Given the description of an element on the screen output the (x, y) to click on. 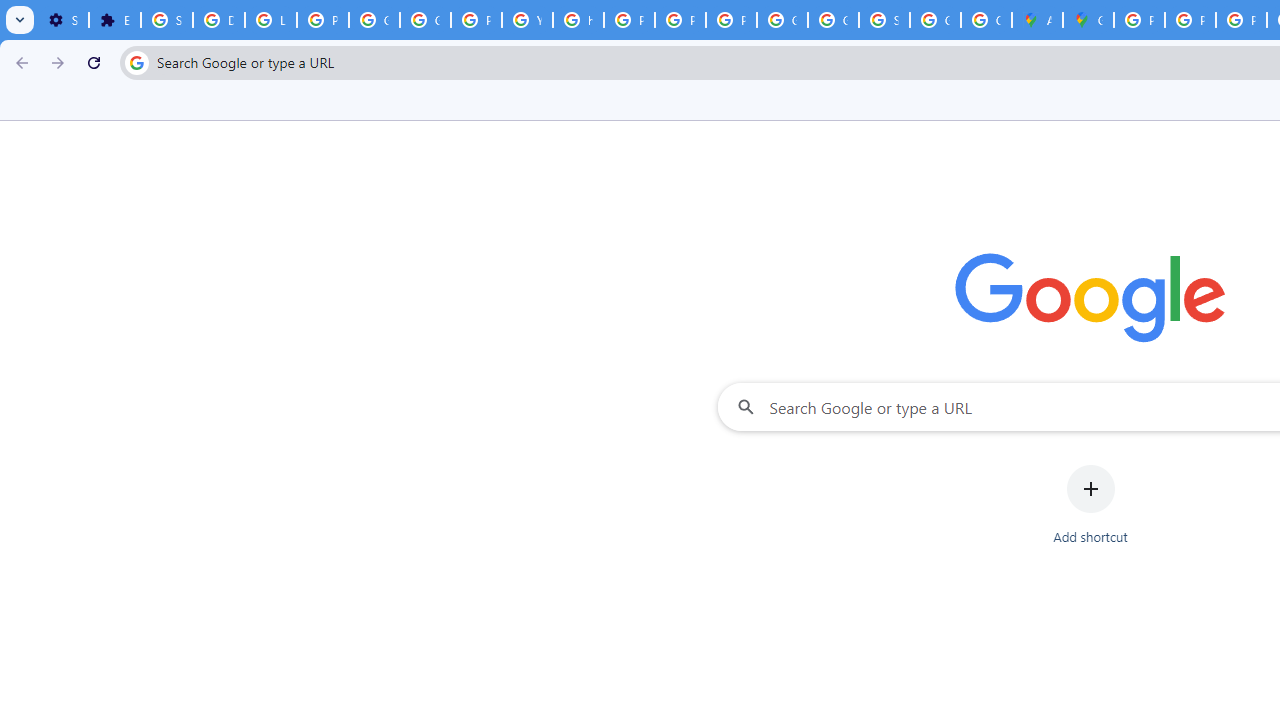
YouTube (526, 20)
Settings - On startup (63, 20)
Privacy Help Center - Policies Help (629, 20)
Privacy Help Center - Policies Help (1189, 20)
Delete photos & videos - Computer - Google Photos Help (218, 20)
Privacy Help Center - Policies Help (1241, 20)
Google Maps (1087, 20)
